Given the description of an element on the screen output the (x, y) to click on. 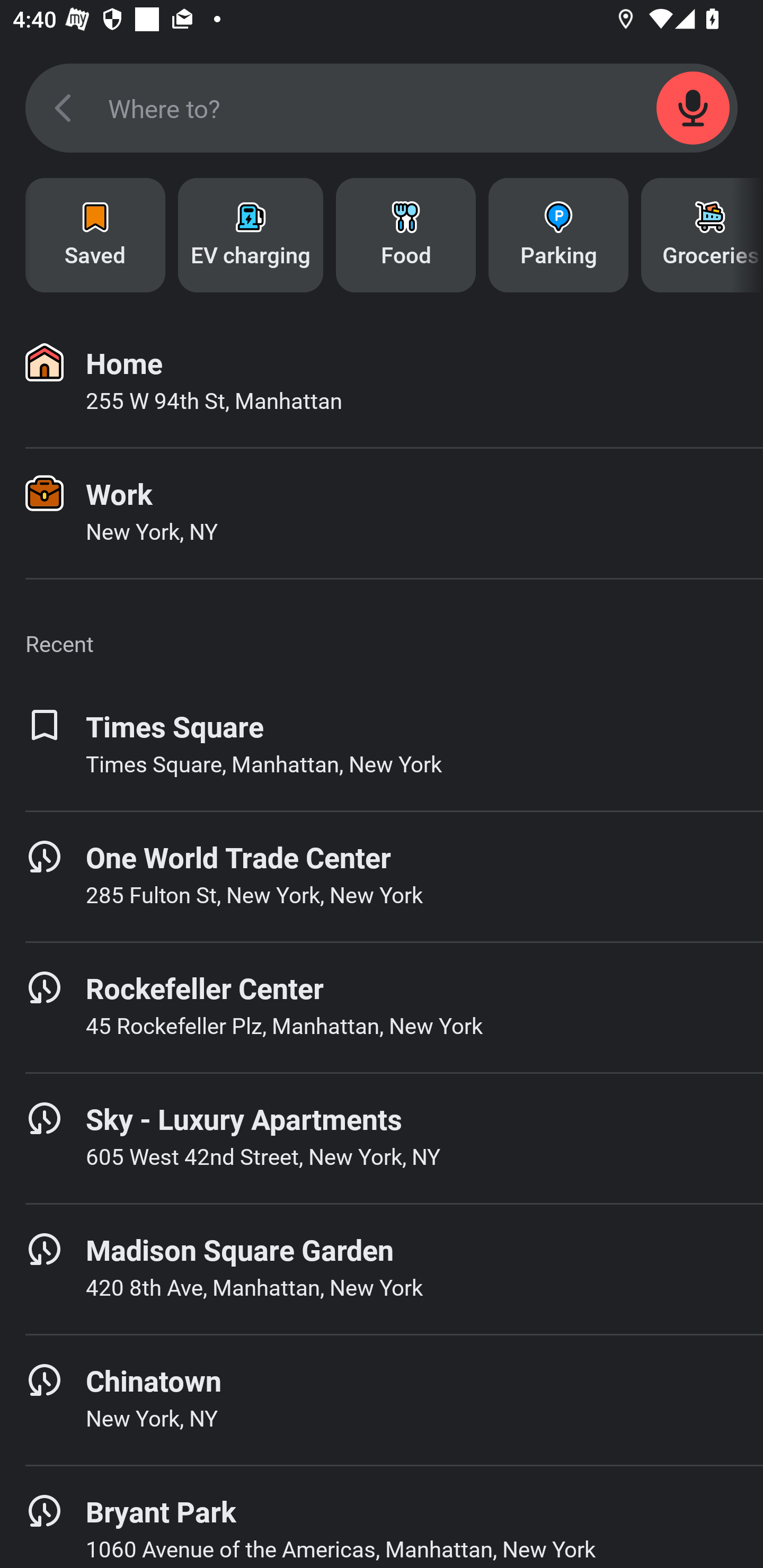
SEARCH_SCREEN_SEARCH_FIELD Where to? (381, 108)
Saved (95, 234)
EV charging (250, 234)
Food (405, 234)
Parking (558, 234)
Groceries (701, 234)
Home 255 W 94th St, Manhattan (381, 382)
Work New York, NY (381, 513)
Times Square Times Square, Manhattan, New York (381, 745)
Chinatown New York, NY (381, 1399)
